Given the description of an element on the screen output the (x, y) to click on. 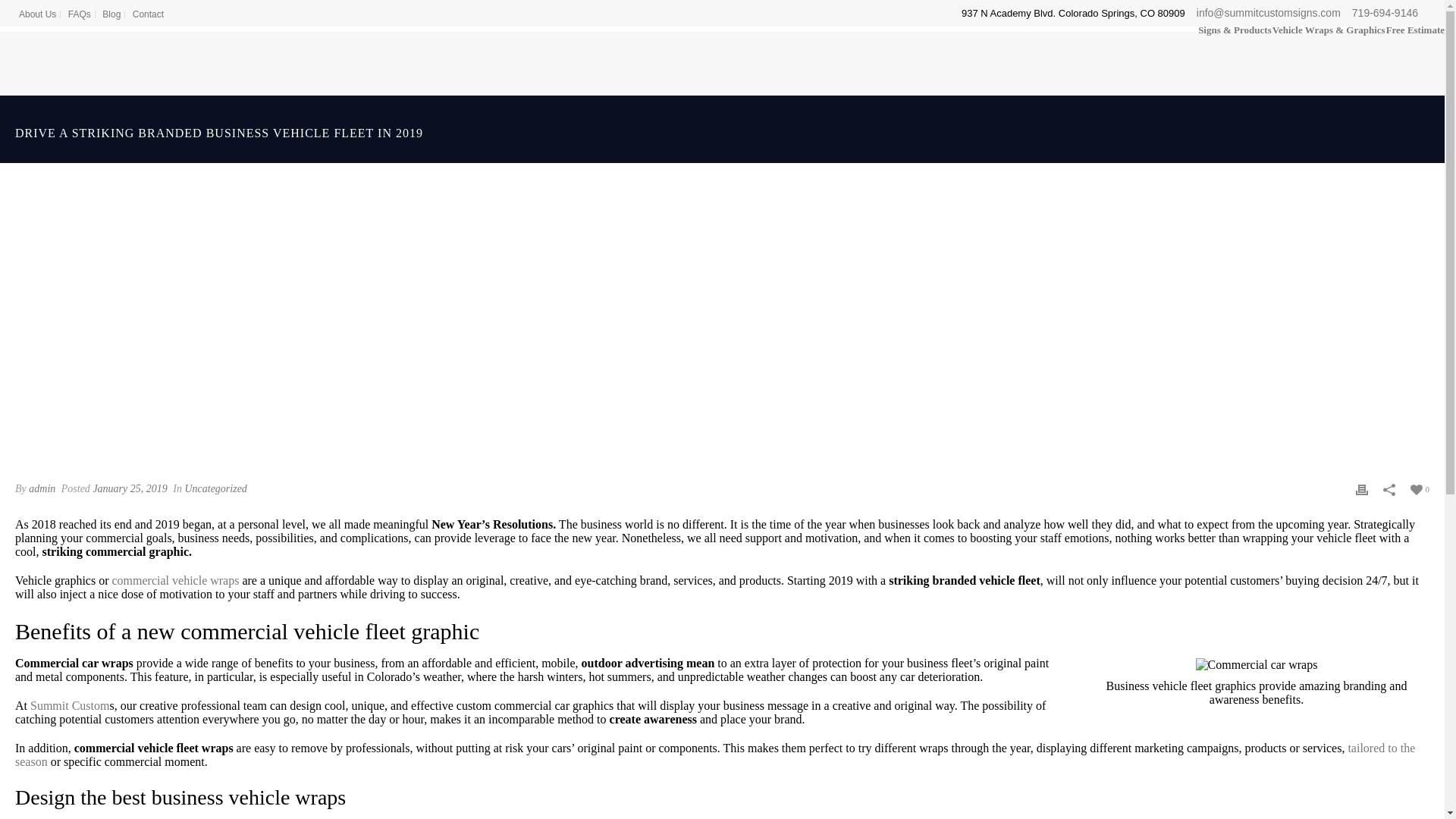
January 25, 2019 (130, 488)
Blog (112, 14)
719-694-9146 (1385, 12)
Uncategorized (215, 488)
FAQs (80, 14)
Contact (148, 14)
admin (42, 488)
0 (1419, 487)
